Given the description of an element on the screen output the (x, y) to click on. 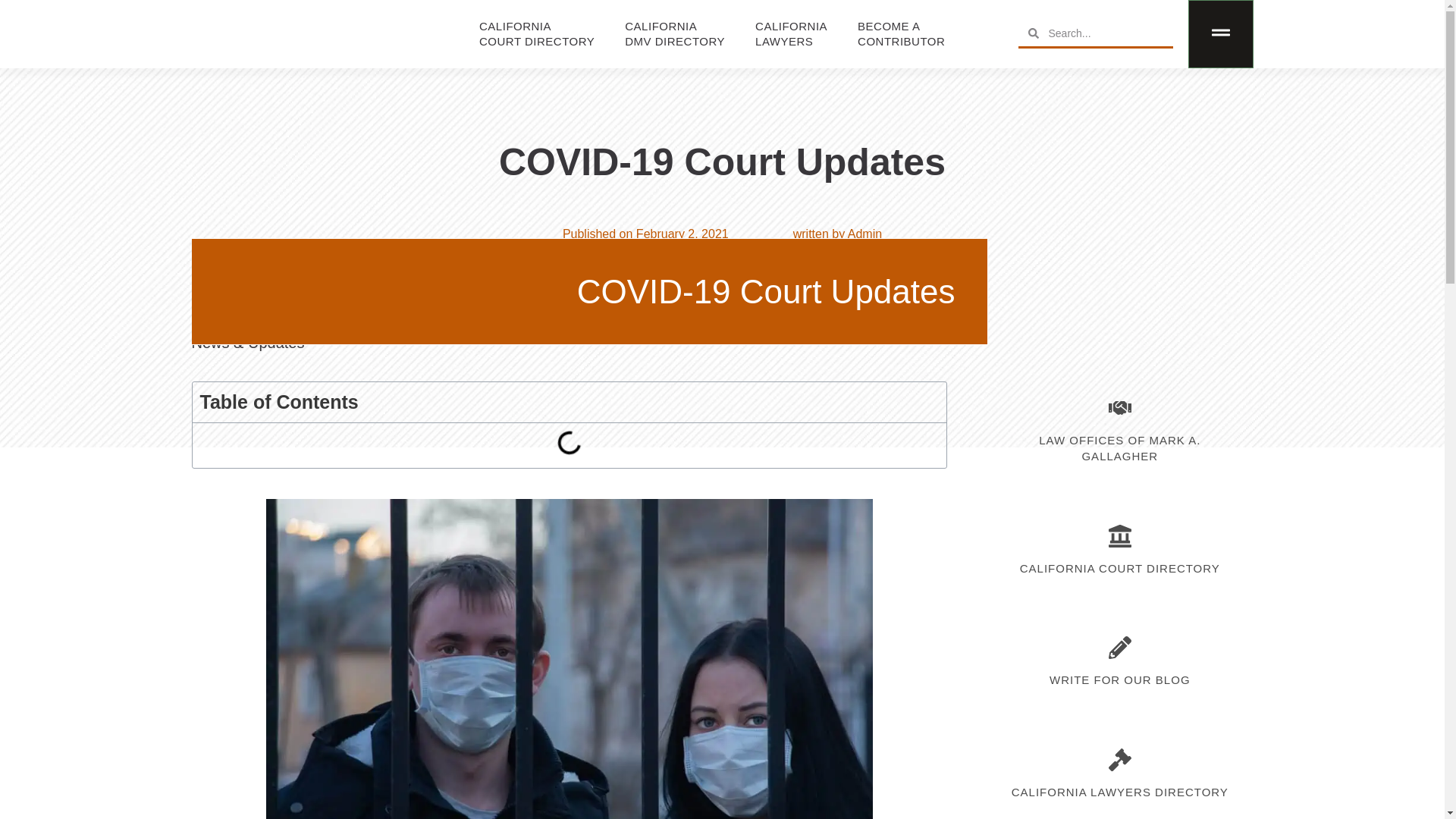
WRITE FOR OUR BLOG (1120, 679)
CALIFORNIA COURT DIRECTORY (791, 33)
CALIFORNIA LAWYERS DIRECTORY (1120, 567)
Published on February 2, 2021 (1119, 791)
LAW OFFICES OF MARK A. GALLAGHER (674, 33)
